Given the description of an element on the screen output the (x, y) to click on. 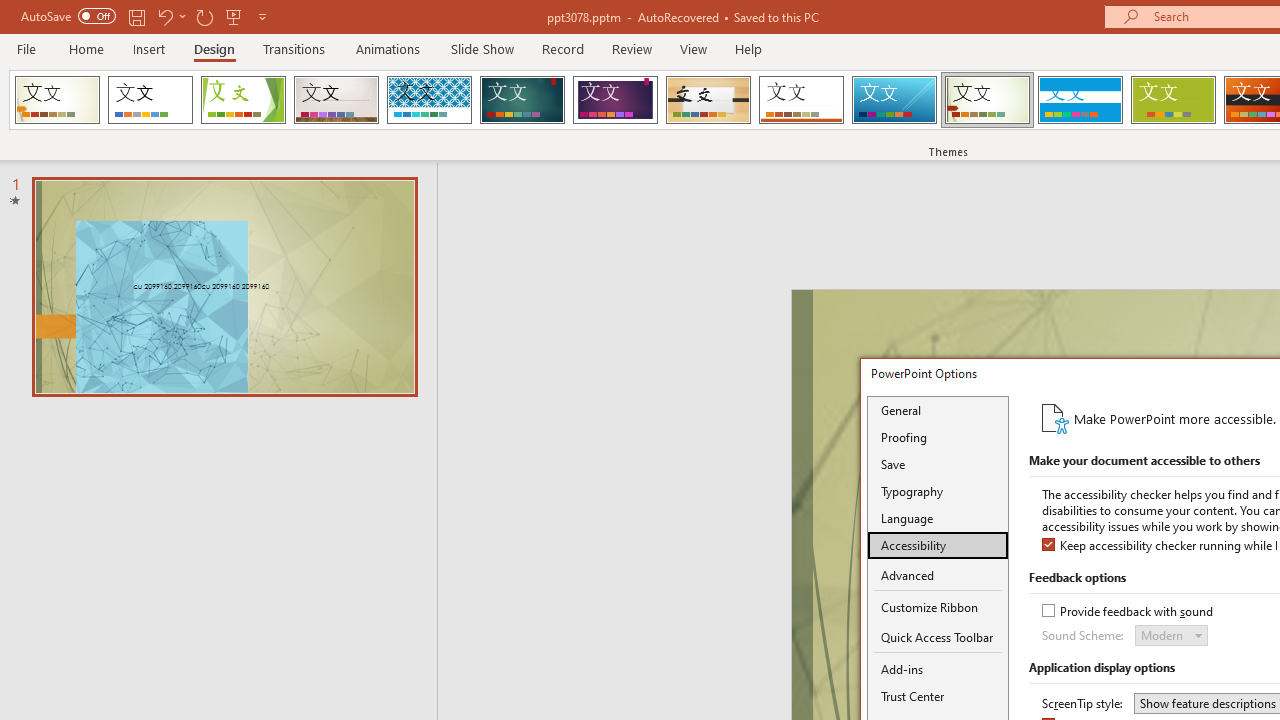
Proofing (937, 437)
Organic Loading Preview... (708, 100)
Add-ins (937, 669)
Banded Loading Preview... (1080, 100)
Language (937, 518)
Retrospect Loading Preview... (801, 100)
